Given the description of an element on the screen output the (x, y) to click on. 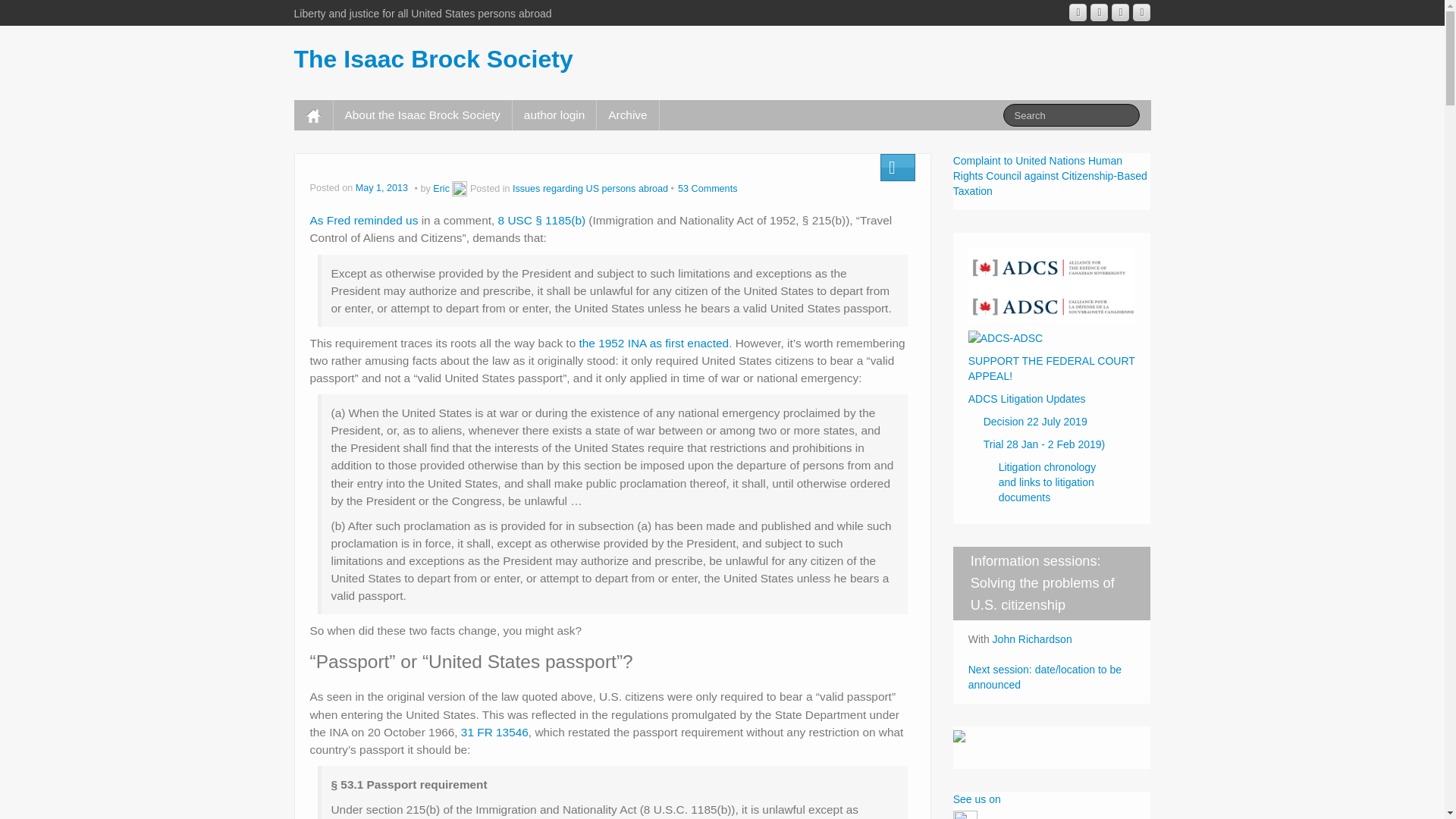
Eric (440, 188)
53 Comments (707, 188)
About the Isaac Brock Society (422, 114)
31 FR 13546 (494, 731)
Issues regarding US persons abroad (590, 188)
5:56 am (382, 188)
The Isaac Brock Society Facebook (1099, 12)
the 1952 INA as first enacted (653, 342)
ADCT (1005, 337)
The Isaac Brock Society Vimeo (1120, 12)
